Given the description of an element on the screen output the (x, y) to click on. 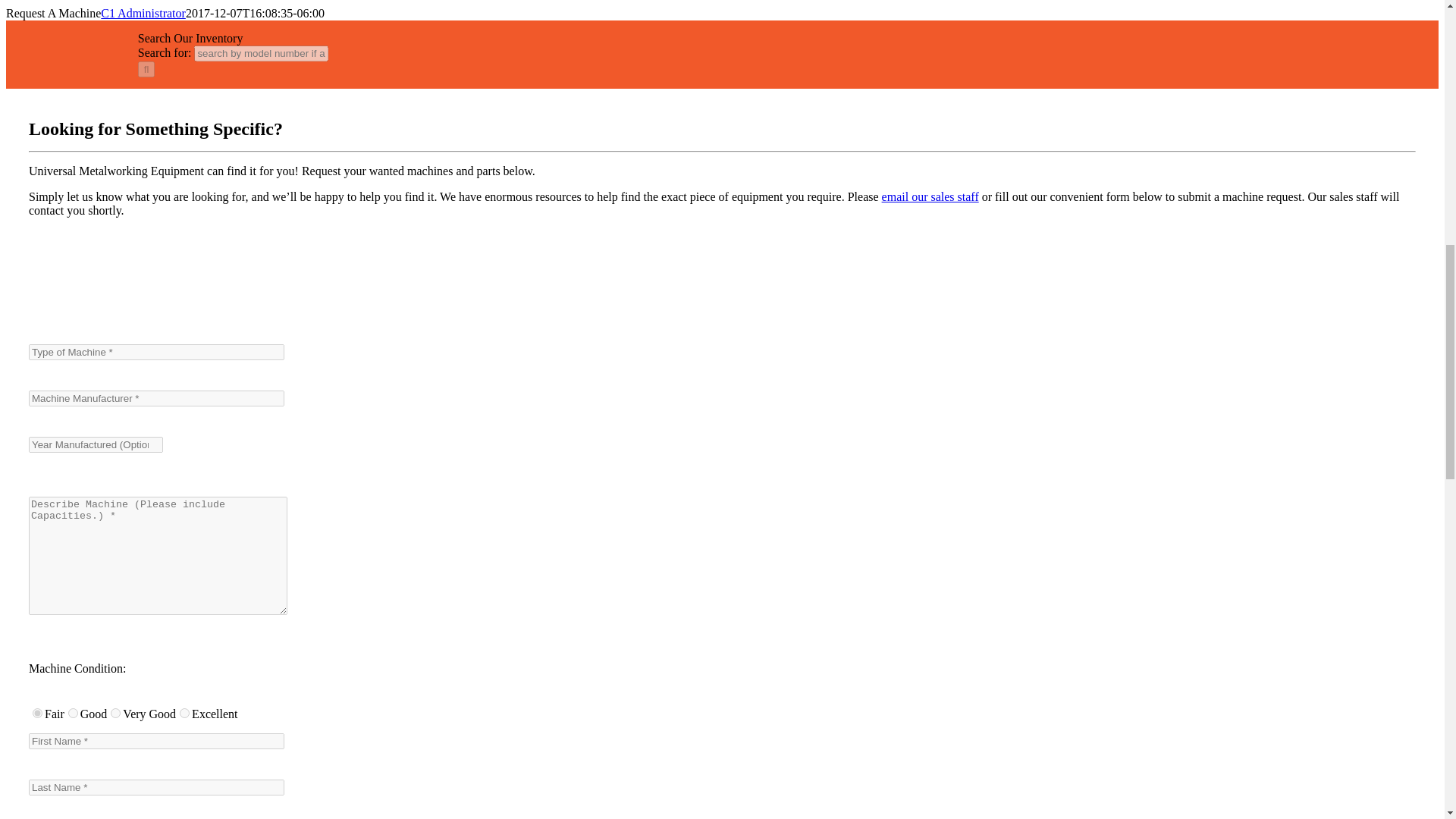
Good (73, 713)
Very Good (115, 713)
Excellent (184, 713)
Fair (37, 713)
email our sales staff (930, 196)
C1 Administrator (143, 12)
